Given the description of an element on the screen output the (x, y) to click on. 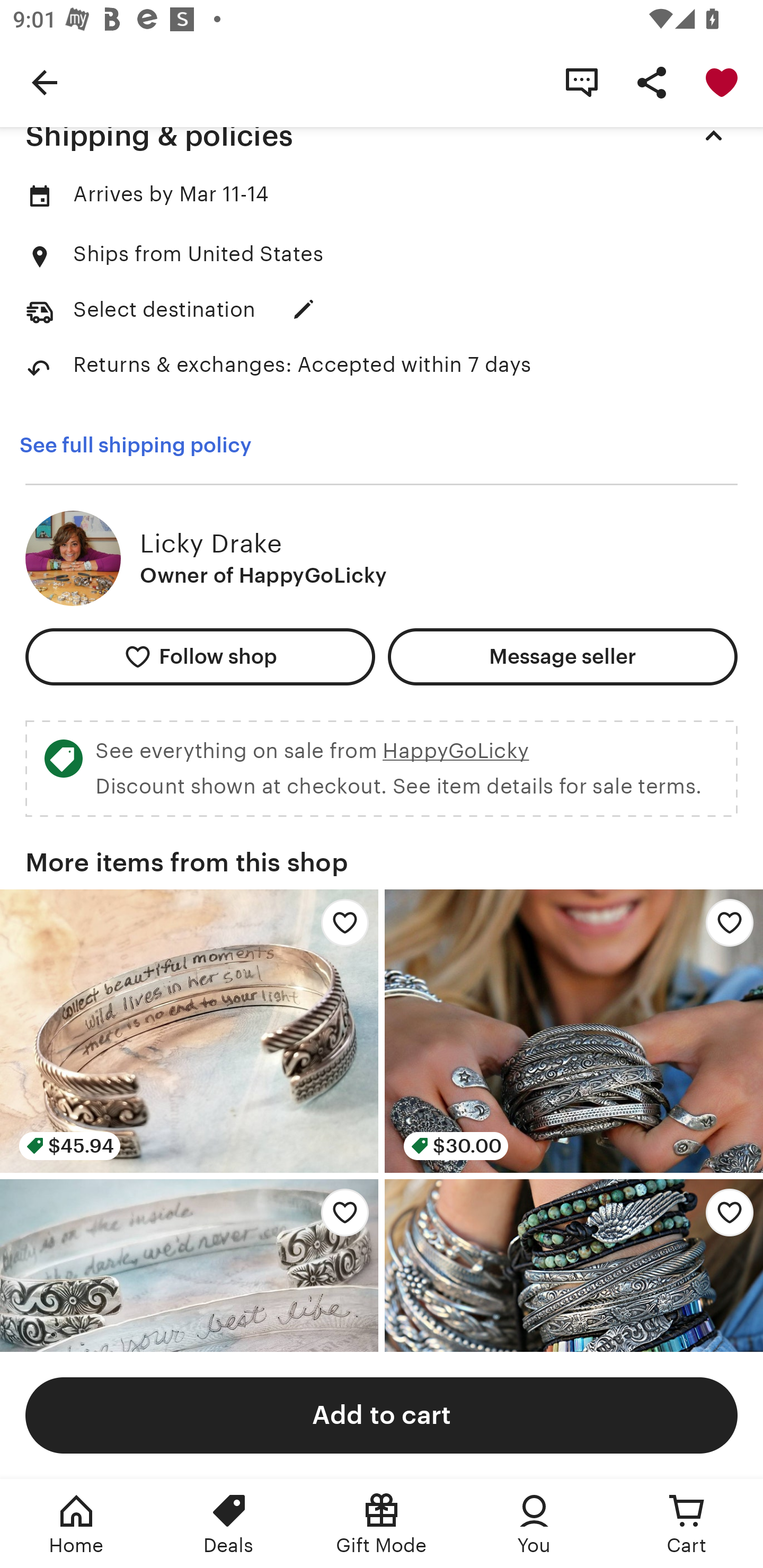
Navigate up (44, 81)
Contact shop (581, 81)
Share (651, 81)
Shipping & policies (381, 135)
Update (302, 309)
See full shipping policy (135, 444)
Follow shop Follow HappyGoLicky (200, 656)
Message seller (562, 656)
Add to cart (381, 1414)
Home (76, 1523)
Gift Mode (381, 1523)
You (533, 1523)
Cart (686, 1523)
